Given the description of an element on the screen output the (x, y) to click on. 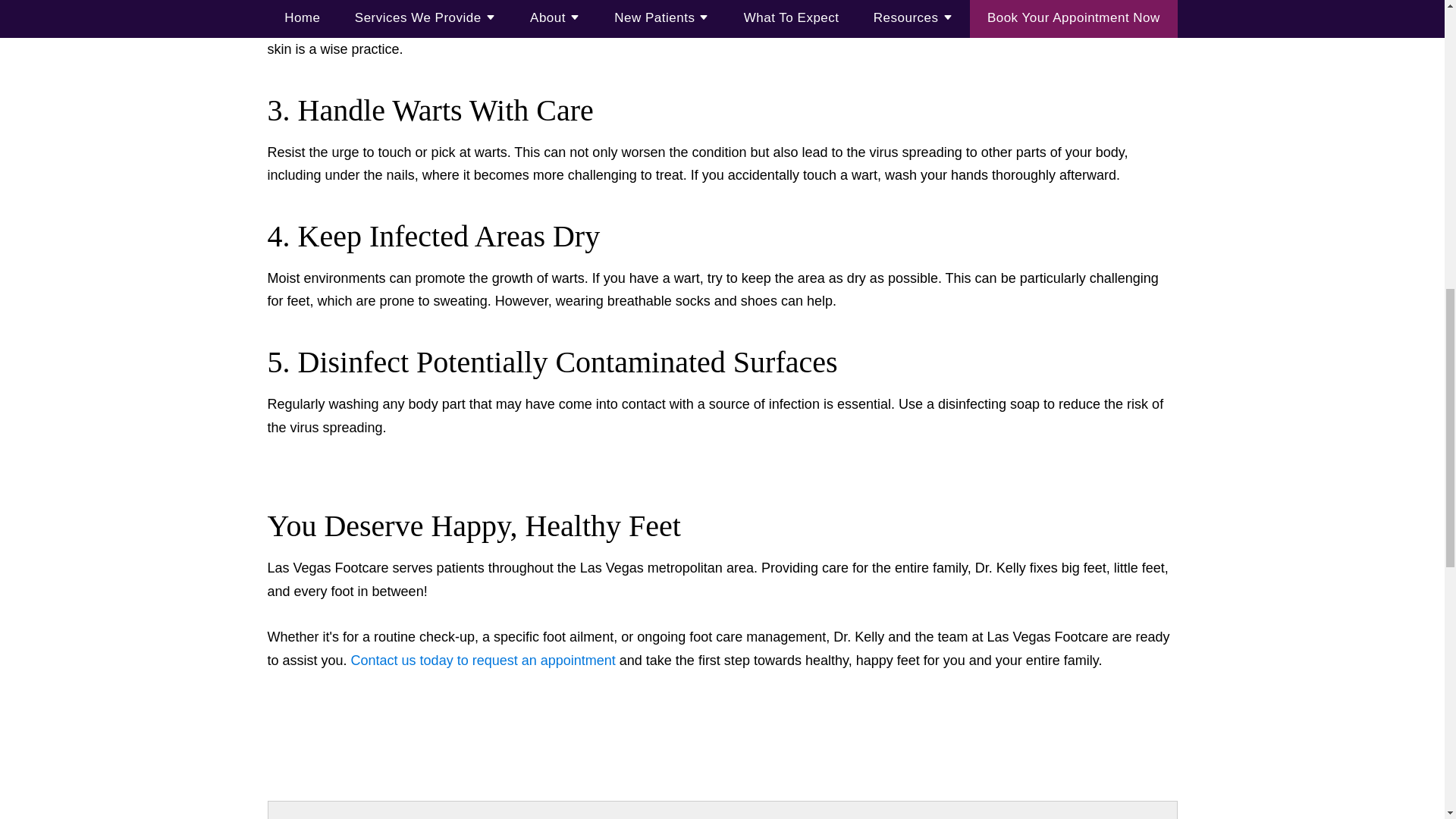
Contact us today to request an appointment (482, 660)
